Given the description of an element on the screen output the (x, y) to click on. 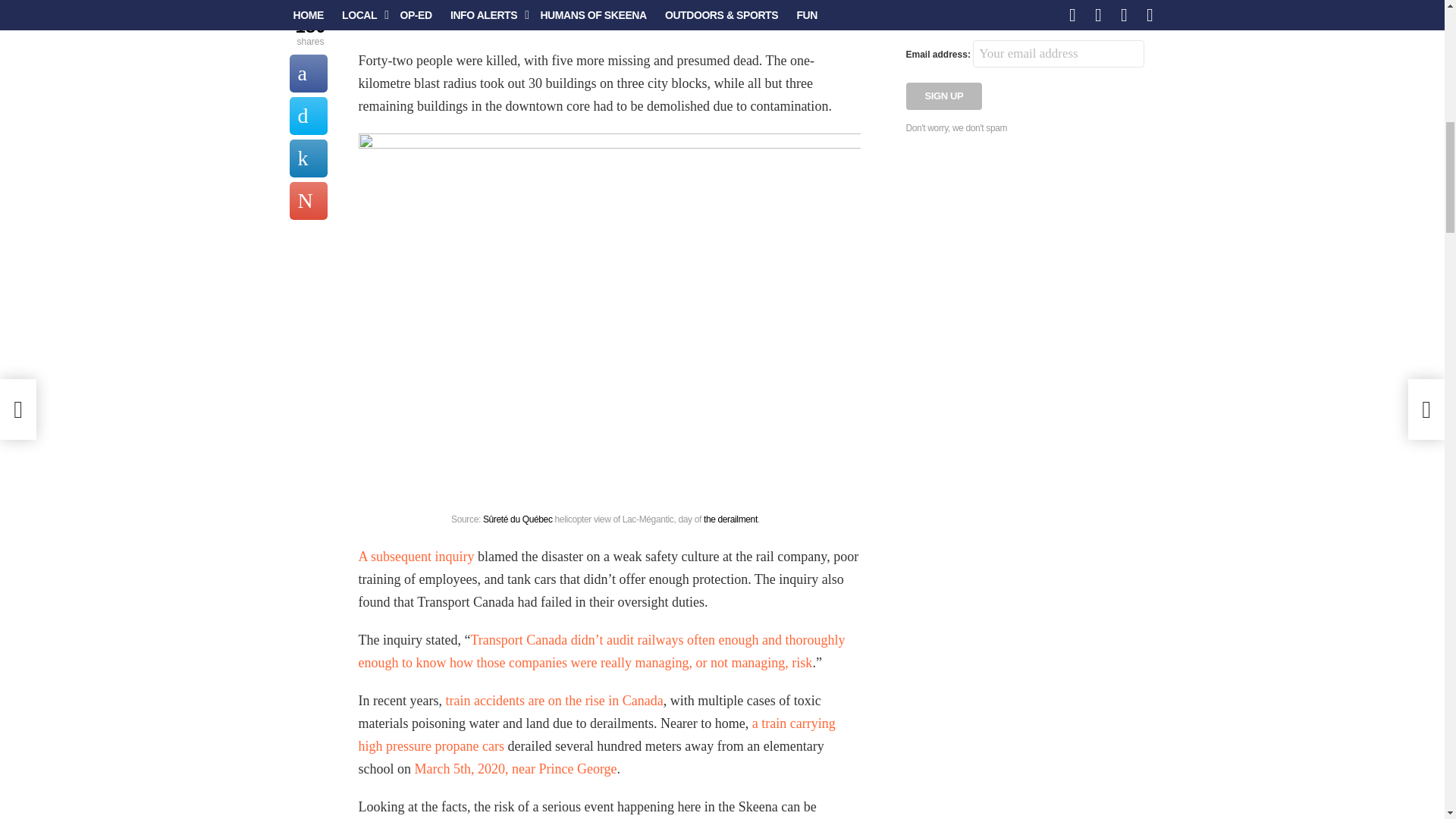
Sign up (943, 95)
